Given the description of an element on the screen output the (x, y) to click on. 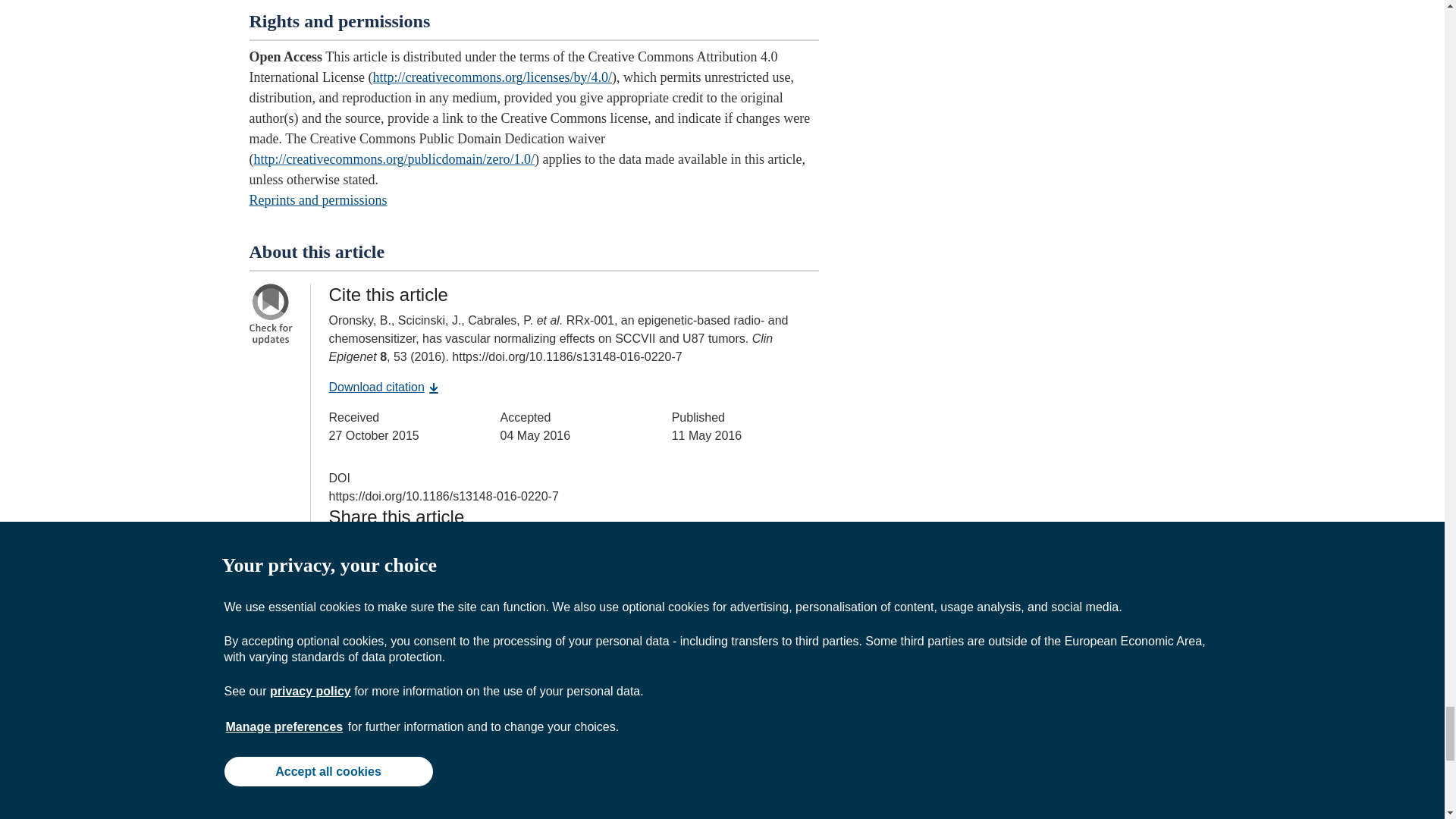
Digital Object Identifier (339, 477)
